Given the description of an element on the screen output the (x, y) to click on. 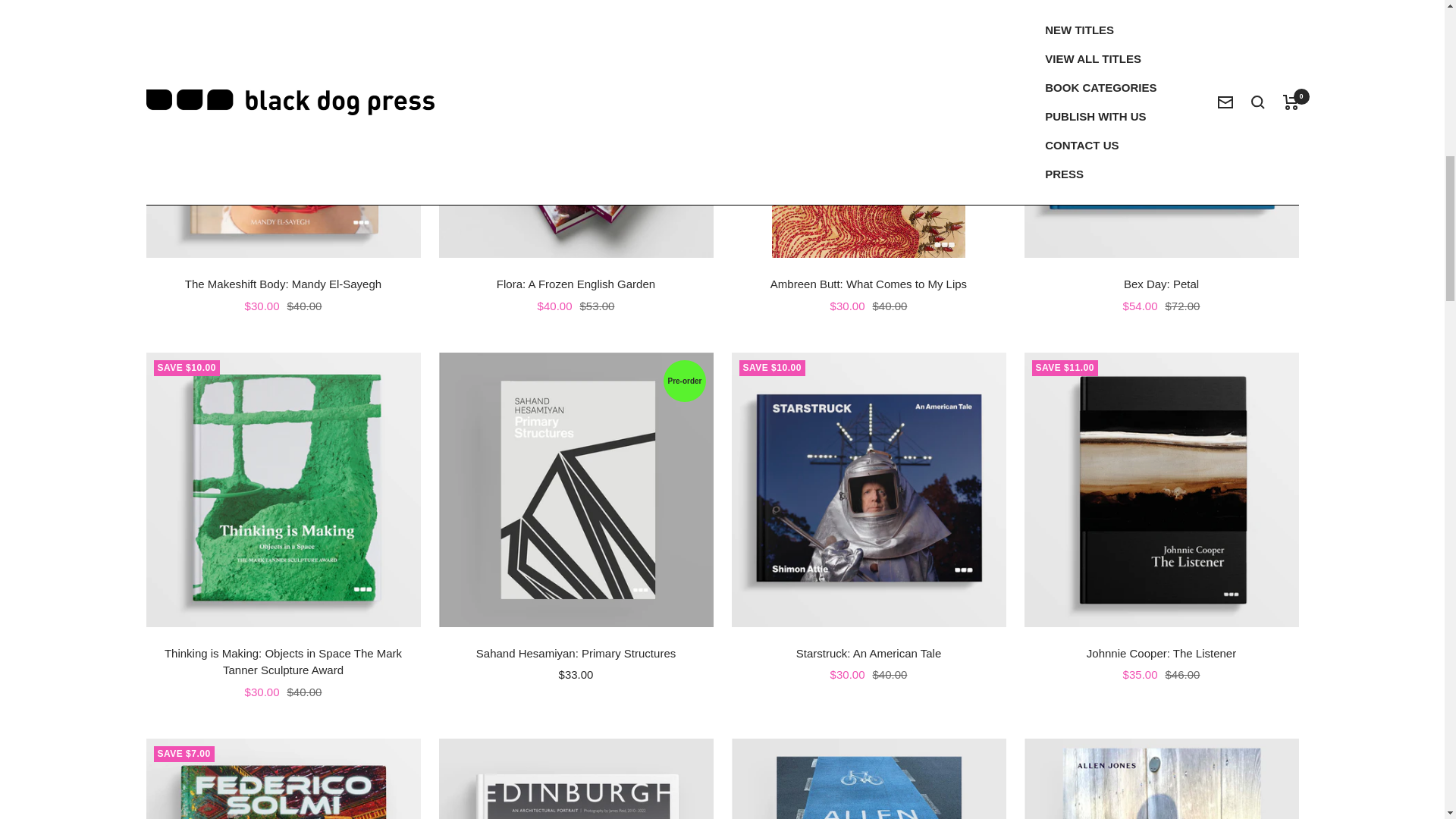
Flora: A Frozen English Garden (575, 284)
Bex Day: Petal (1160, 284)
Ambreen Butt: What Comes to My Lips (868, 284)
The Makeshift Body: Mandy El-Sayegh (282, 284)
